Given the description of an element on the screen output the (x, y) to click on. 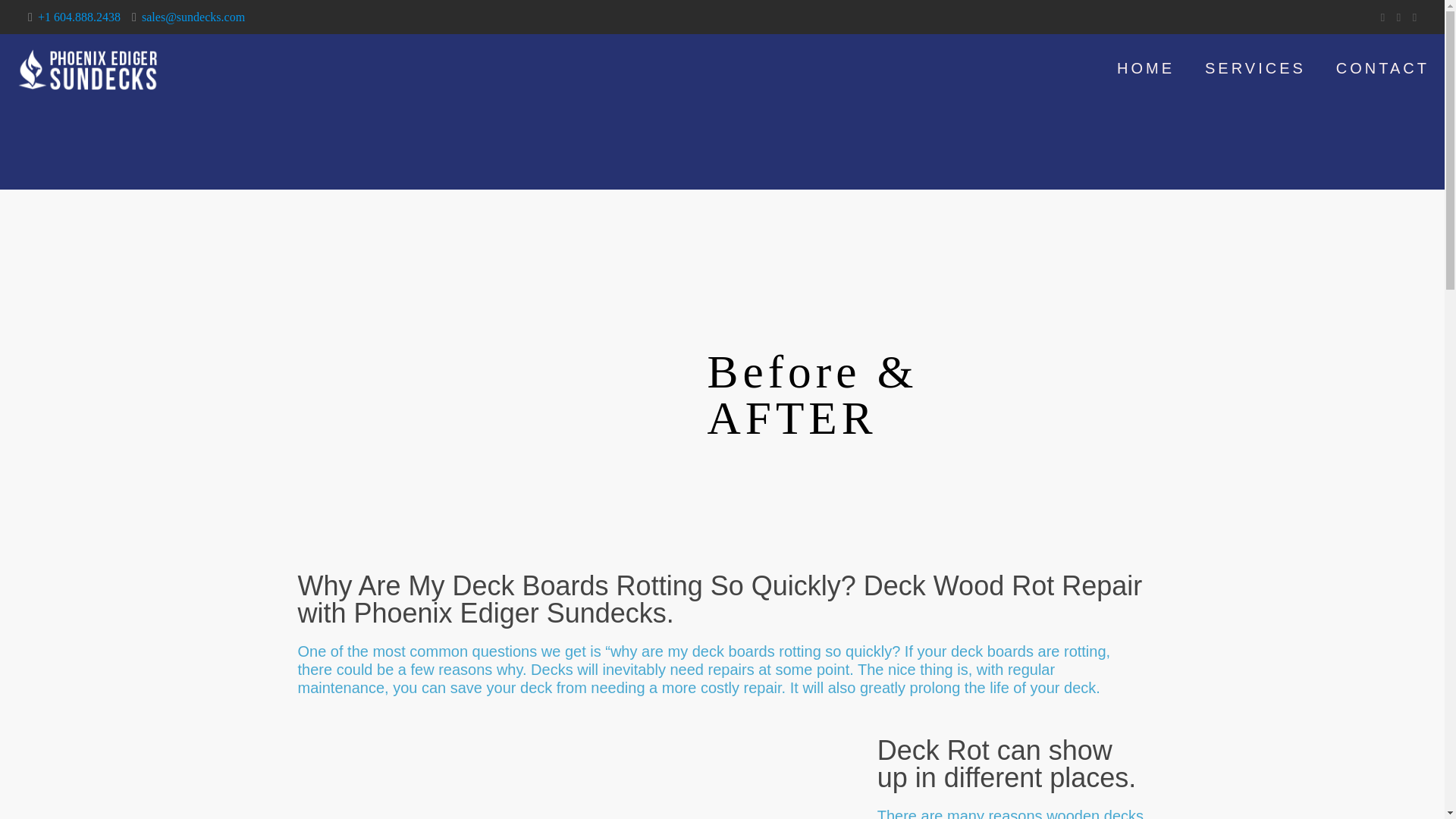
Instagram (1415, 17)
HOME (1145, 68)
Facebook (1383, 17)
YouTube (1399, 17)
SERVICES (1254, 68)
Phoenix Ediger SunDecks (88, 68)
